Given the description of an element on the screen output the (x, y) to click on. 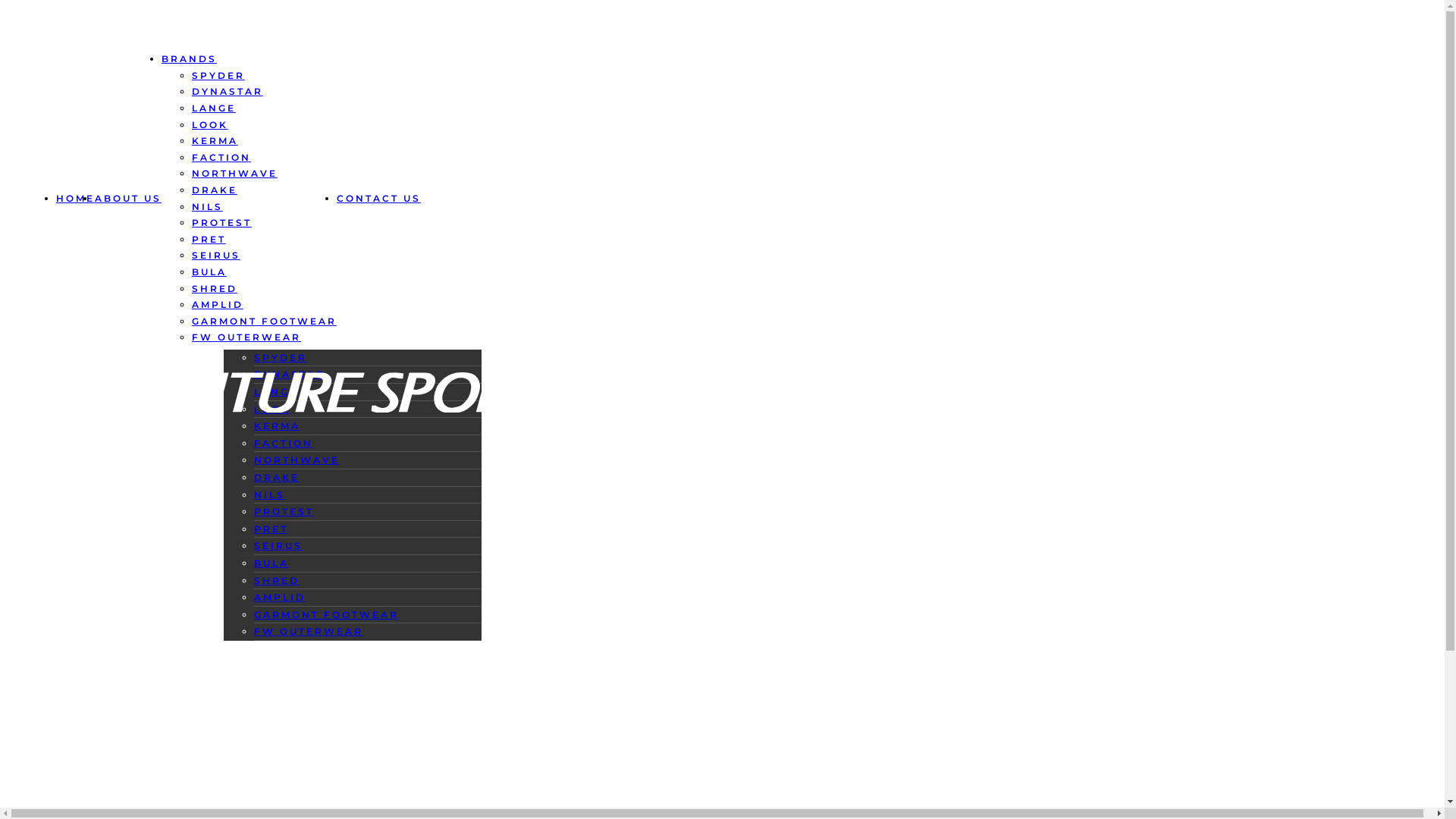
HOME Element type: text (88, 37)
SEIRUS Element type: text (215, 254)
PROTEST Element type: text (283, 511)
FACTION Element type: text (283, 442)
BULA Element type: text (271, 562)
BRANDS Element type: text (261, 37)
ABOUT US Element type: text (170, 37)
BRANDS Element type: text (188, 58)
FW OUTERWEAR Element type: text (246, 336)
AMPLID Element type: text (217, 304)
AMPLID Element type: text (279, 596)
SPYDER Element type: text (280, 357)
KERMA Element type: text (277, 425)
SPYDER Element type: text (217, 75)
FW OUTERWEAR Element type: text (308, 631)
CONTACT US Element type: text (362, 37)
DRAKE Element type: text (214, 189)
CONTACT US Element type: text (378, 197)
LANGE Element type: text (276, 391)
ABOUT US Element type: text (127, 197)
LOOK Element type: text (209, 124)
GARMONT FOOTWEAR Element type: text (326, 614)
DRAKE Element type: text (276, 477)
DYNASTAR Element type: text (289, 373)
PRET Element type: text (208, 238)
BULA Element type: text (208, 271)
NILS Element type: text (206, 206)
SHRED Element type: text (214, 287)
PROTEST Element type: text (221, 222)
GARMONT FOOTWEAR Element type: text (263, 320)
LANGE Element type: text (213, 107)
FACTION Element type: text (221, 157)
DYNASTAR Element type: text (227, 91)
NORTHWAVE Element type: text (296, 459)
KERMA Element type: text (214, 140)
HOME Element type: text (75, 197)
LOOK Element type: text (272, 408)
SHRED Element type: text (276, 580)
SEIRUS Element type: text (278, 545)
NILS Element type: text (269, 494)
PRET Element type: text (271, 528)
NORTHWAVE Element type: text (234, 172)
